Given the description of an element on the screen output the (x, y) to click on. 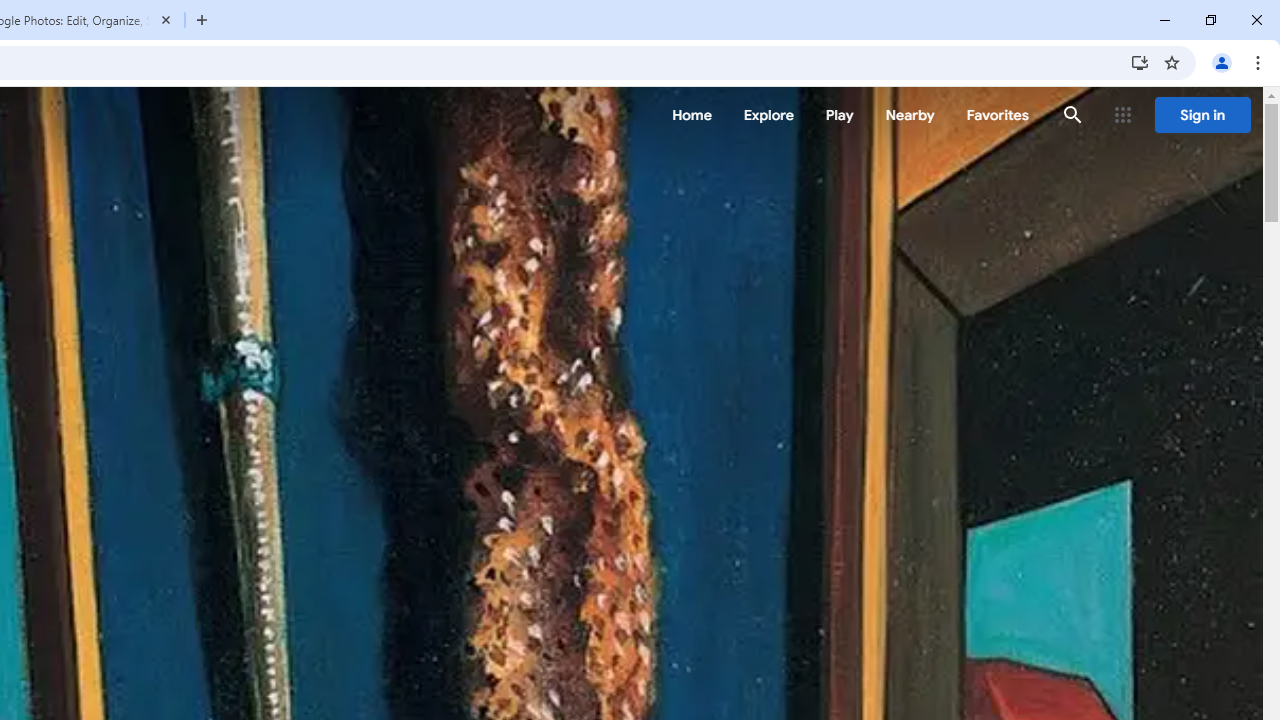
Nearby (910, 115)
Install Google Arts & Culture (1139, 62)
